Given the description of an element on the screen output the (x, y) to click on. 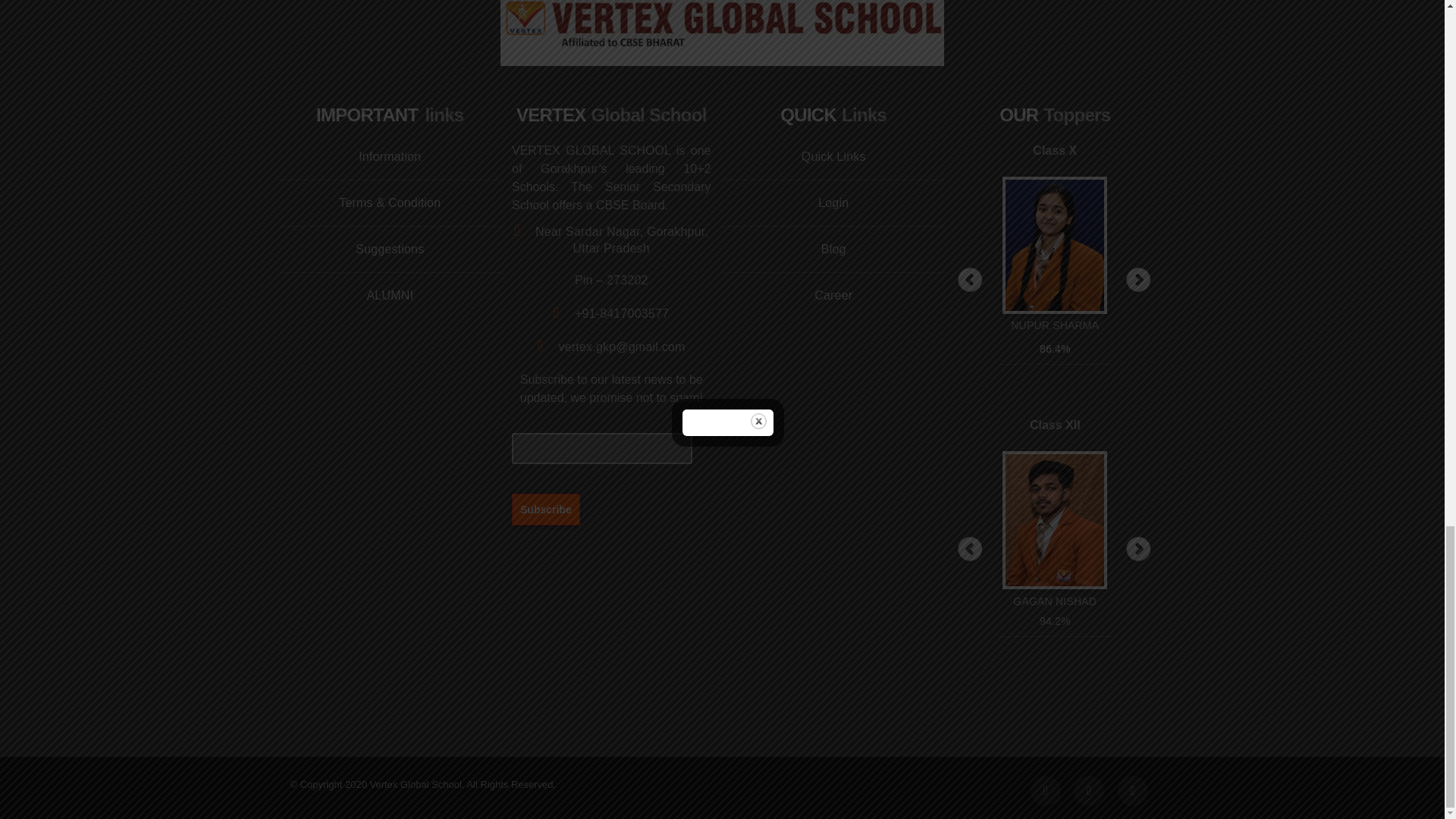
Subscribe (545, 508)
